Given the description of an element on the screen output the (x, y) to click on. 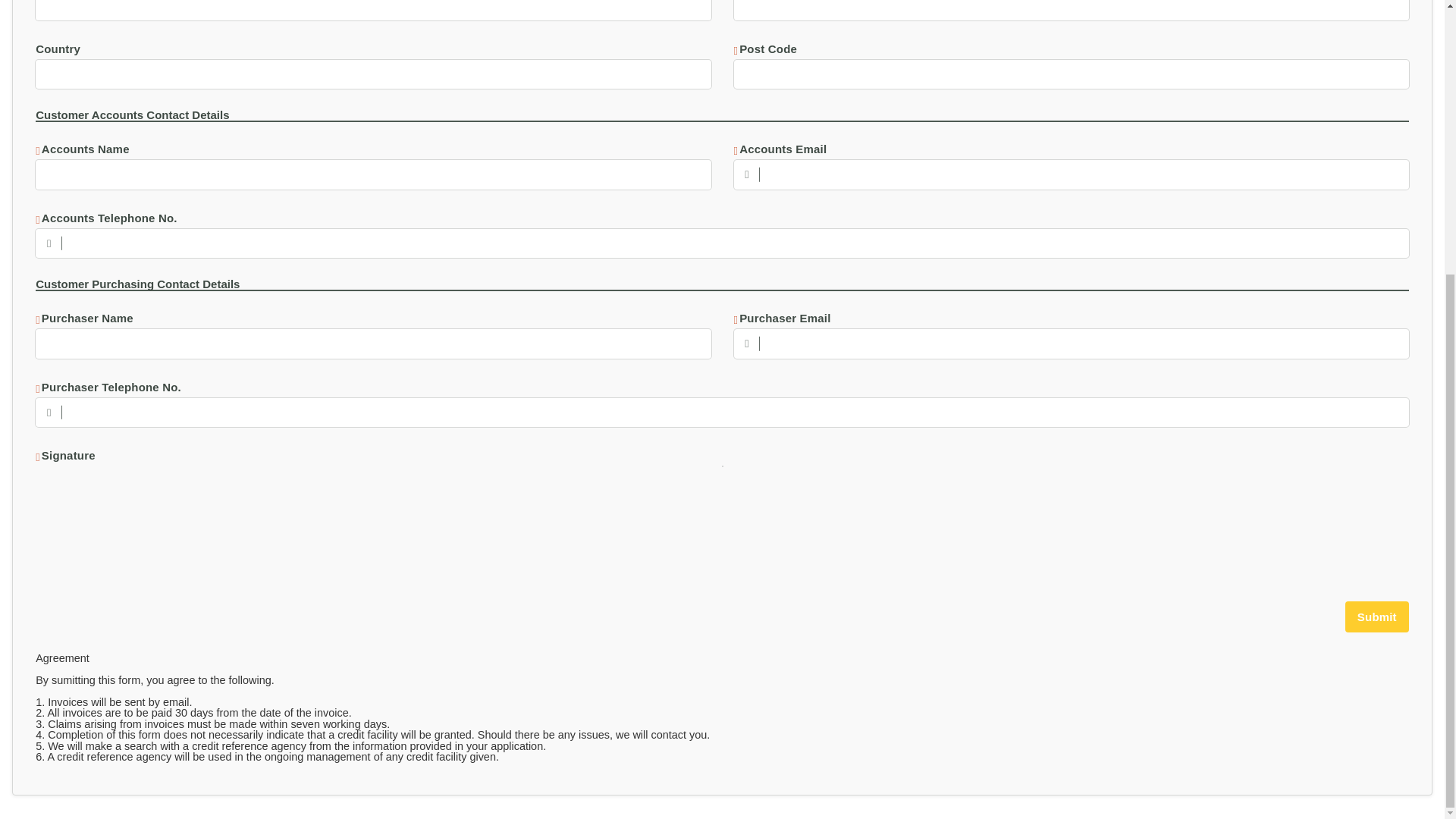
Submit (1377, 616)
